Given the description of an element on the screen output the (x, y) to click on. 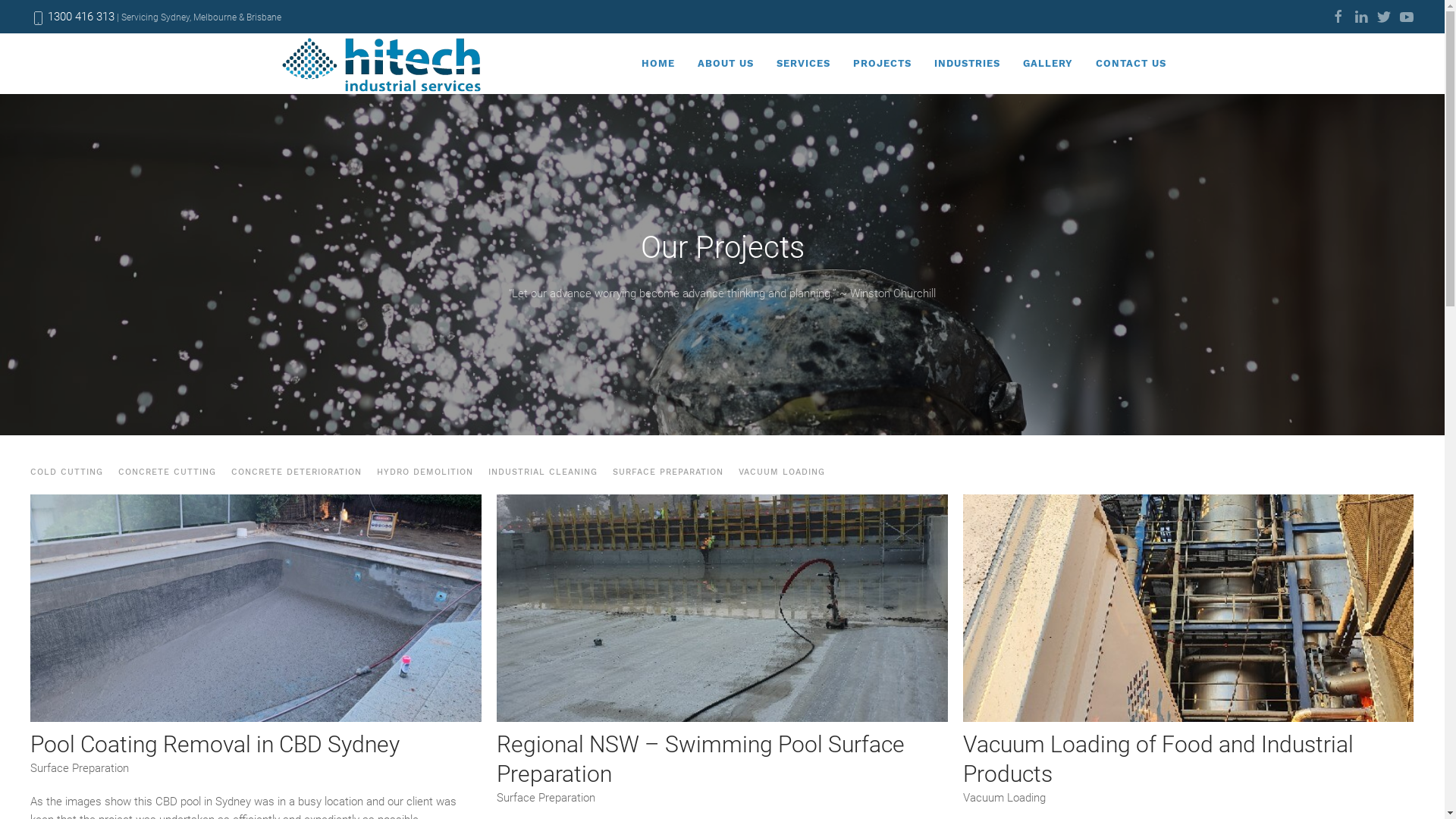
HYDRO DEMOLITION Element type: text (424, 472)
CONCRETE DETERIORATION Element type: text (296, 472)
SURFACE PREPARATION Element type: text (667, 472)
COLD CUTTING Element type: text (66, 472)
PROJECTS Element type: text (881, 63)
INDUSTRIES Element type: text (966, 63)
CONCRETE CUTTING Element type: text (167, 472)
1300 416 313 Element type: text (80, 16)
INDUSTRIAL CLEANING Element type: text (542, 472)
ABOUT US Element type: text (724, 63)
HOME Element type: text (657, 63)
SERVICES Element type: text (802, 63)
GALLERY Element type: text (1047, 63)
VACUUM LOADING Element type: text (781, 472)
CONTACT US Element type: text (1130, 63)
